Given the description of an element on the screen output the (x, y) to click on. 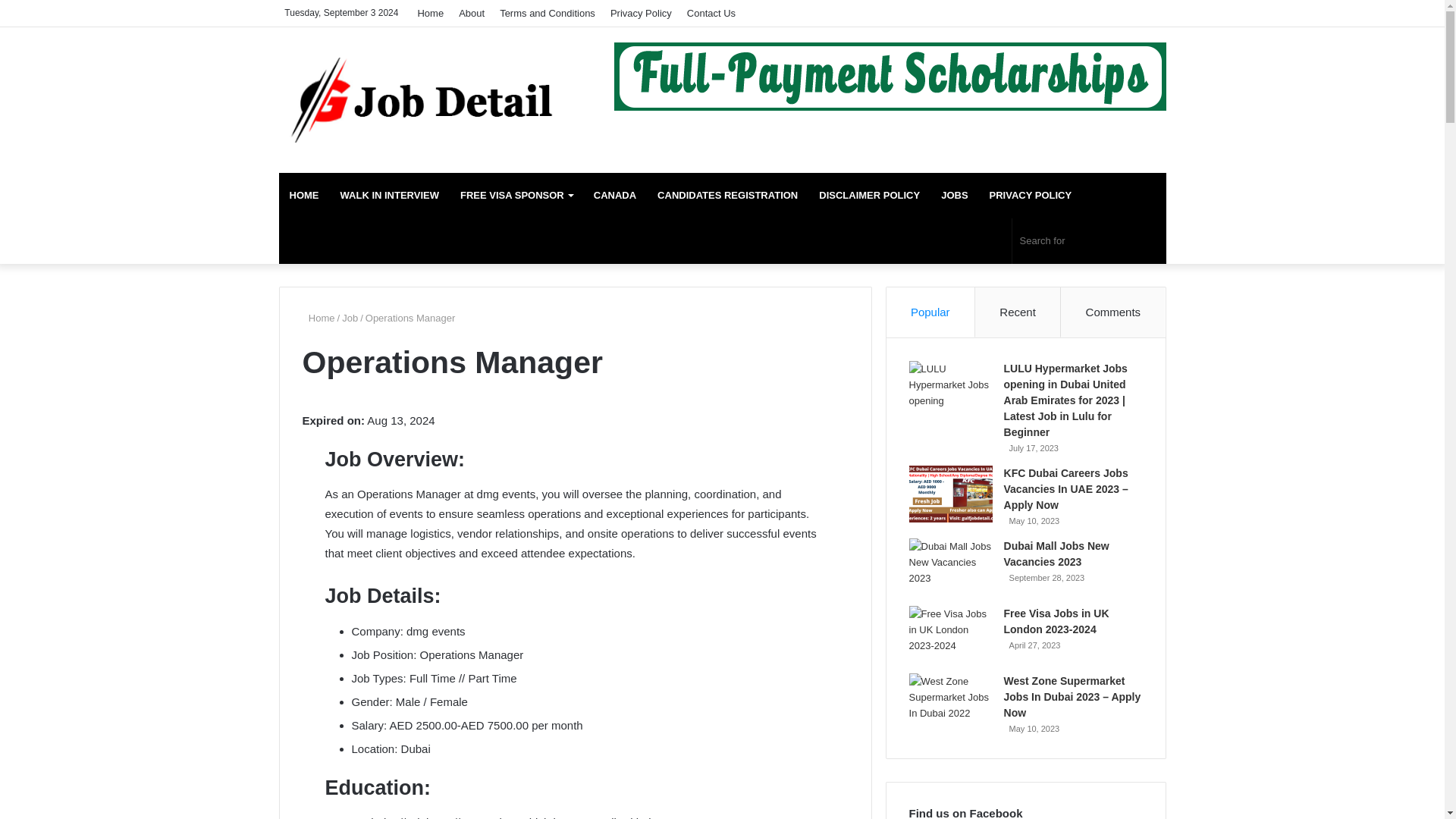
FREE VISA SPONSOR (516, 195)
Privacy Policy (640, 13)
Job (350, 317)
Contact Us (710, 13)
CANDIDATES REGISTRATION (727, 195)
Home (430, 13)
PRIVACY POLICY (1030, 195)
Gulf Job Detail (419, 99)
DISCLAIMER POLICY (869, 195)
CANADA (614, 195)
